Given the description of an element on the screen output the (x, y) to click on. 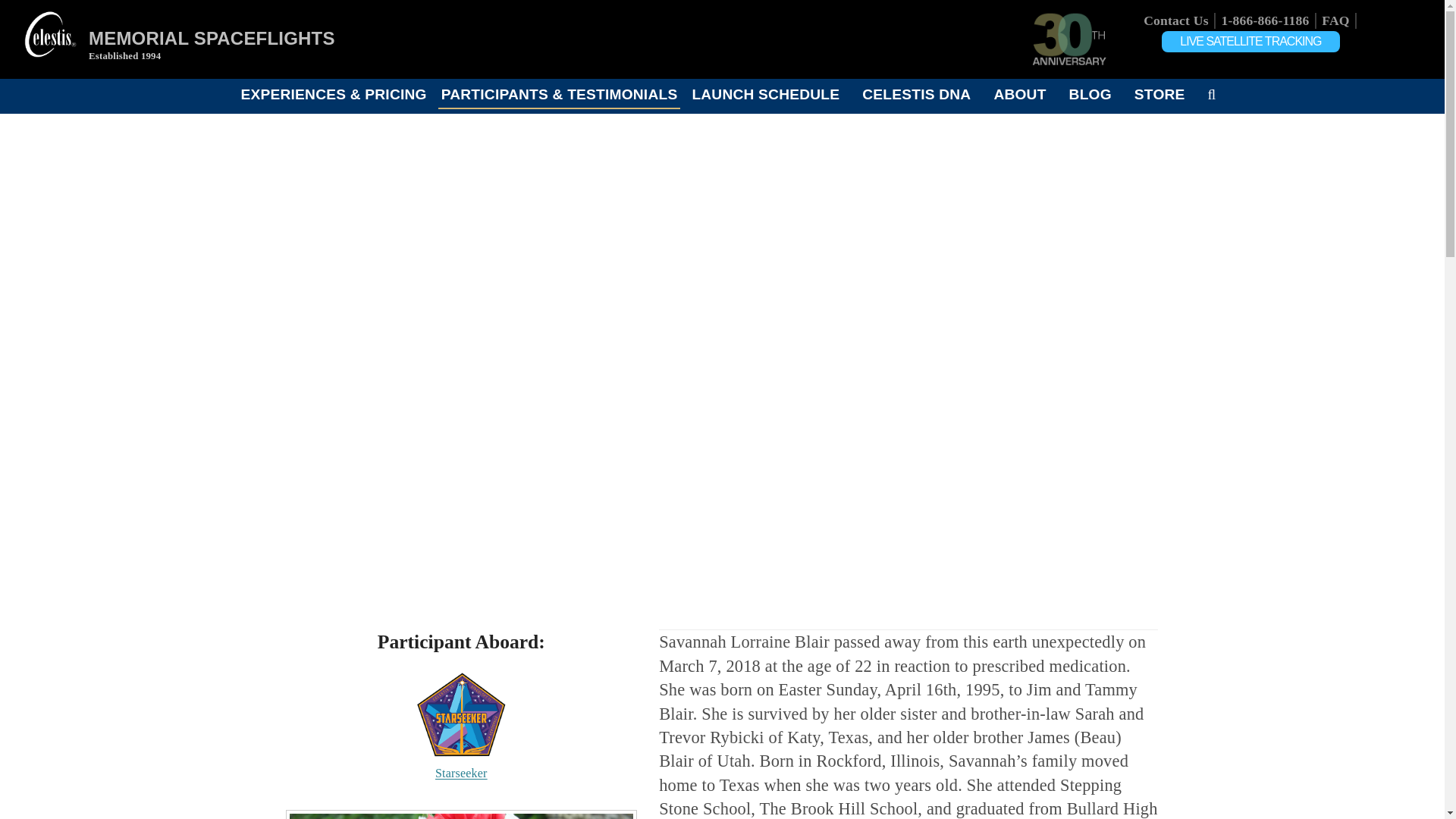
1-866-866-1186 (1264, 20)
ABOUT (1019, 94)
FAQ (1335, 20)
STORE (1159, 94)
MEMORIAL SPACEFLIGHTS (211, 38)
BLOG (1090, 94)
CELESTIS DNA (915, 94)
LAUNCH SCHEDULE (764, 94)
Contact Us (1175, 20)
LIVE SATELLITE TRACKING (1250, 41)
